Given the description of an element on the screen output the (x, y) to click on. 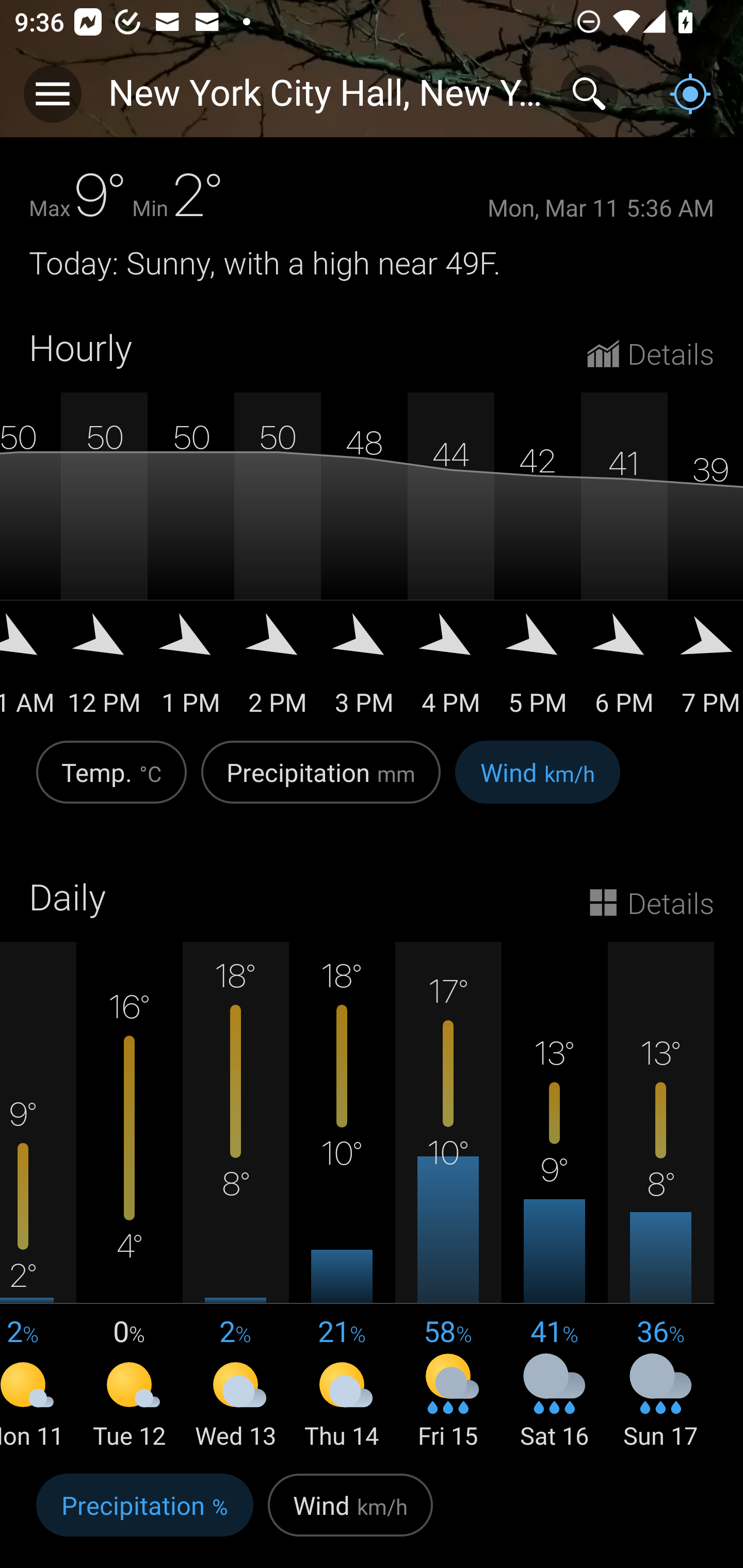
 11 AM (30, 670)
 12 PM (103, 670)
 1 PM (190, 670)
 2 PM (277, 670)
 3 PM (363, 670)
 4 PM (450, 670)
 5 PM (537, 670)
 6 PM (624, 670)
 7 PM (705, 670)
Temp. °C (110, 782)
Precipitation mm (320, 782)
Wind km/h (537, 782)
9° 2° 2 % Mon 11 (38, 1196)
16° 4° 0 % Tue 12 (129, 1196)
18° 8° 2 % Wed 13 (235, 1196)
18° 10° 21 % Thu 14 (342, 1196)
17° 10° 58 % Fri 15 (448, 1196)
13° 9° 41 % Sat 16 (554, 1196)
13° 8° 36 % Sun 17 (660, 1196)
Precipitation % (144, 1515)
Wind km/h (349, 1515)
